Given the description of an element on the screen output the (x, y) to click on. 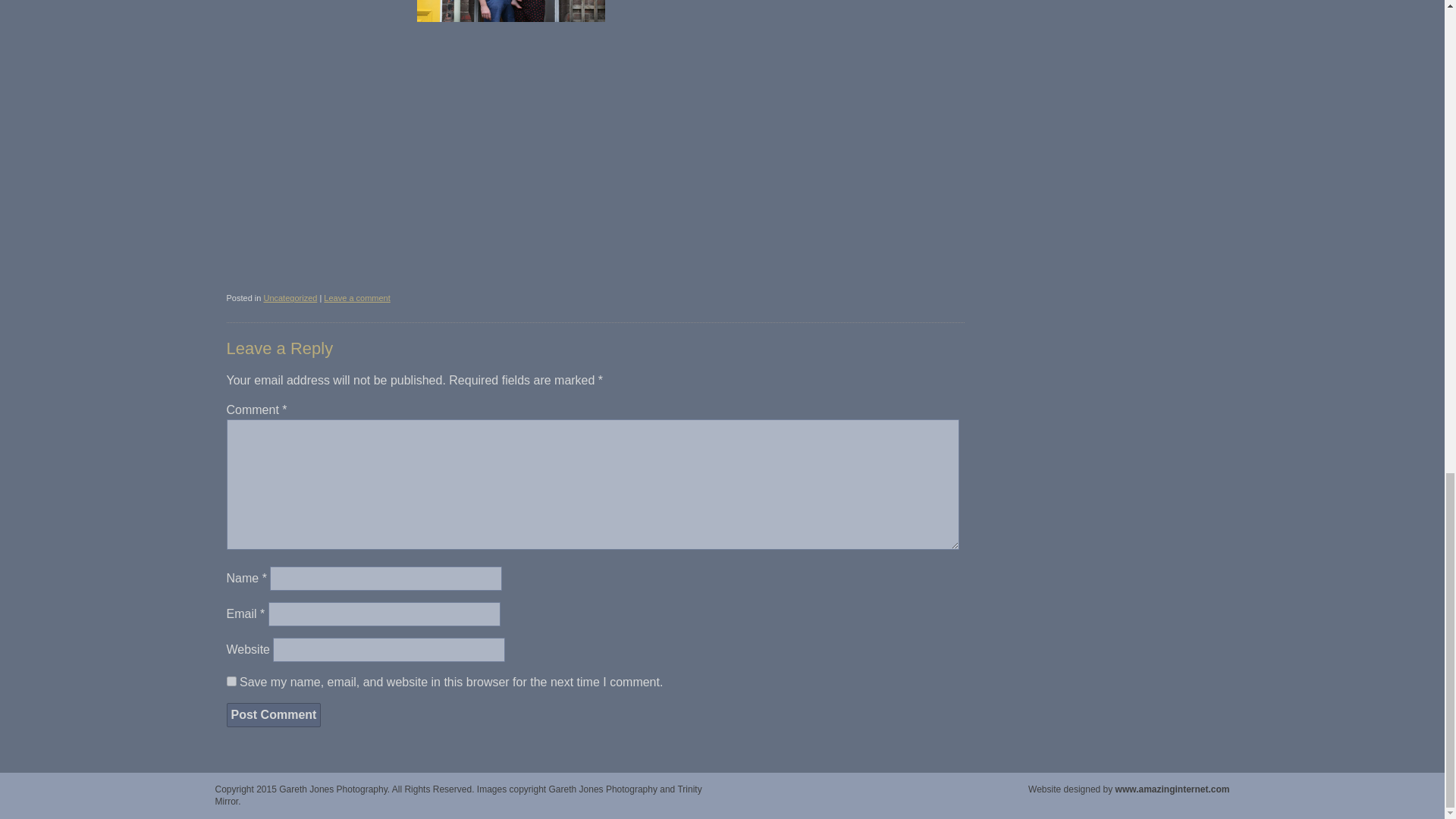
Post Comment (272, 714)
yes (230, 681)
